Given the description of an element on the screen output the (x, y) to click on. 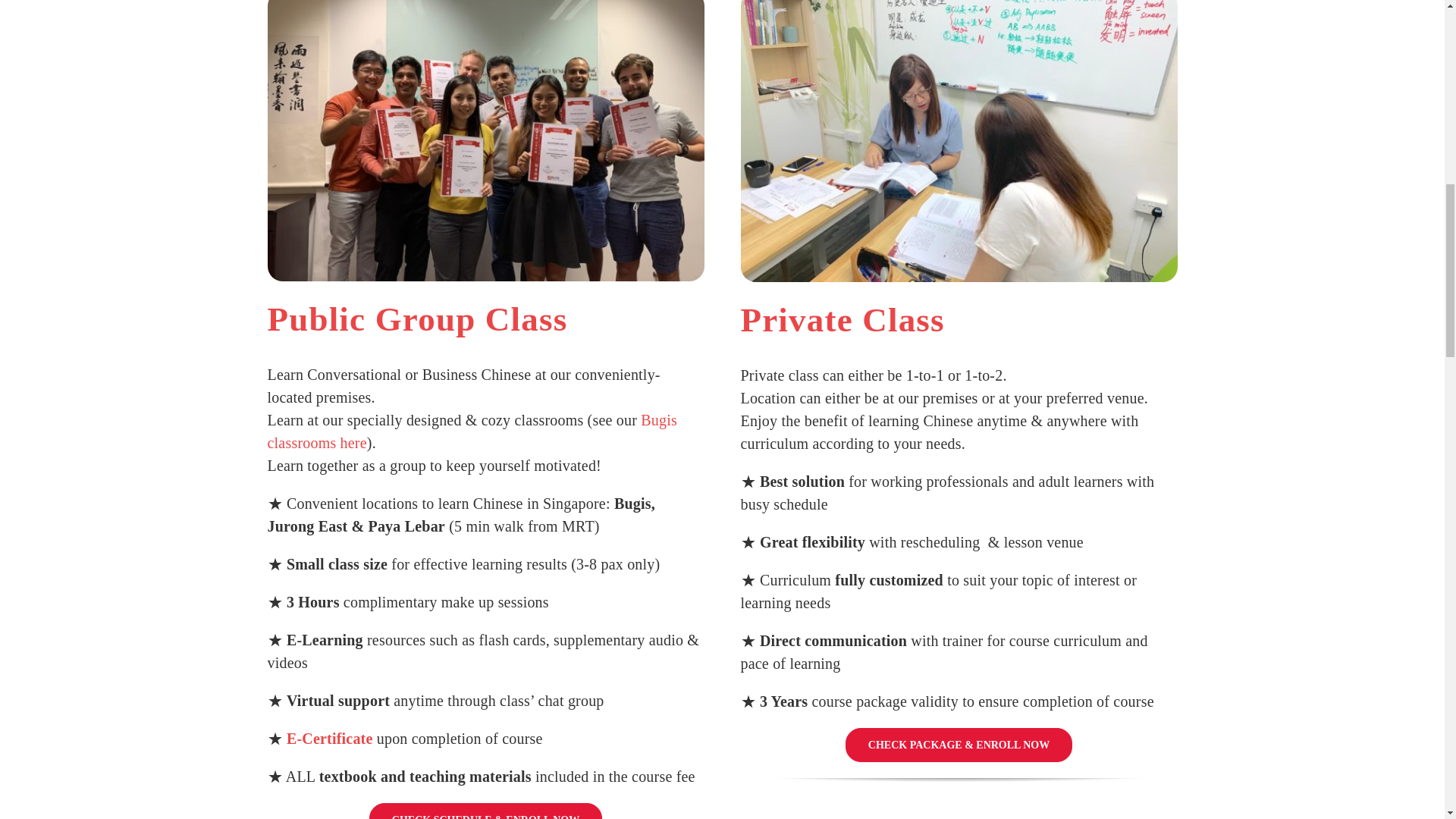
Photo 24-2-20, 9 33 21 PM (484, 140)
Private lesson 3 (957, 140)
